Given the description of an element on the screen output the (x, y) to click on. 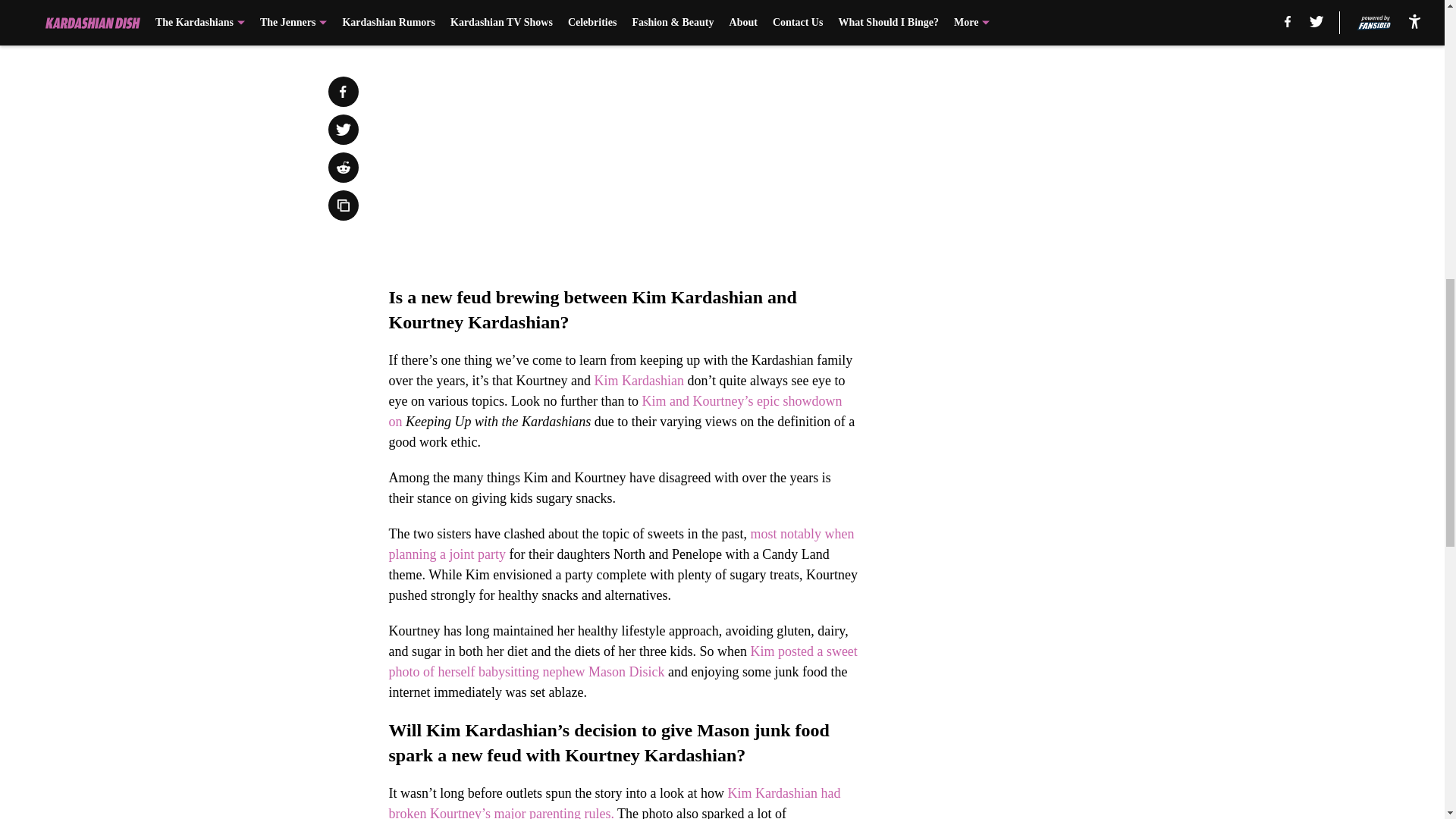
most notably when planning a joint party (620, 543)
Kim Kardashian (638, 380)
